Given the description of an element on the screen output the (x, y) to click on. 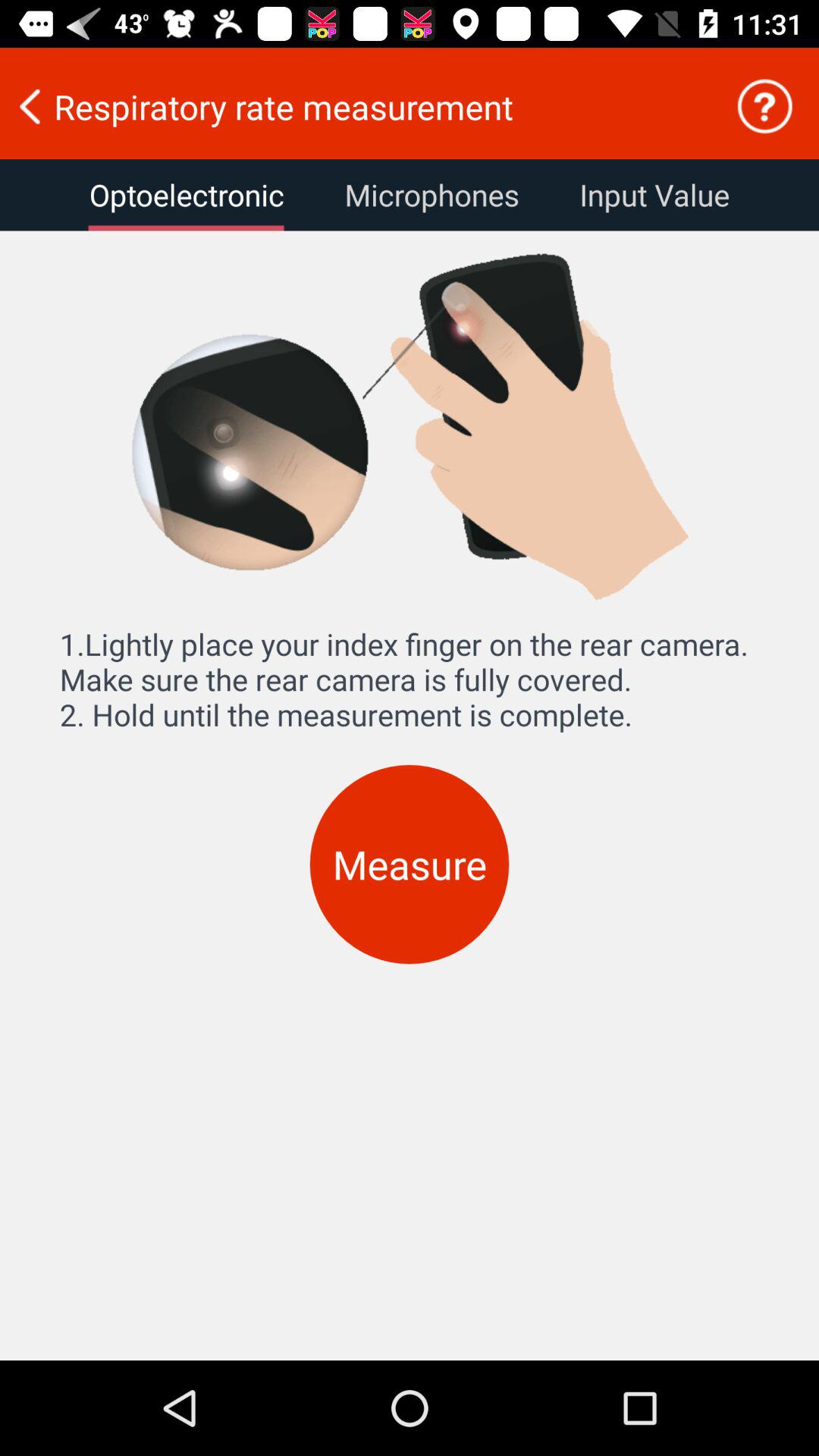
help to proceed (764, 106)
